Given the description of an element on the screen output the (x, y) to click on. 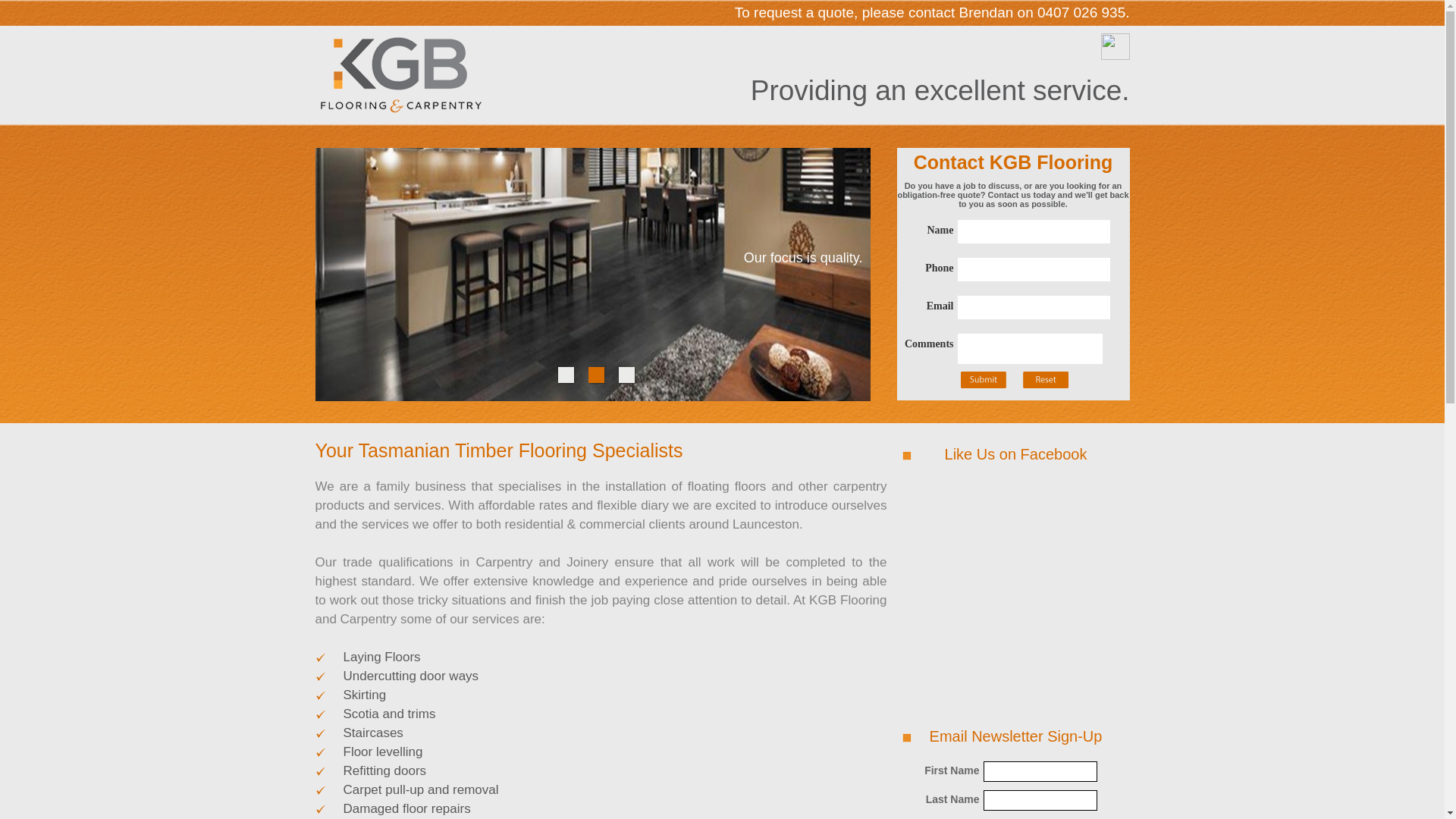
2 Element type: text (596, 375)
3 Element type: text (627, 375)
1 Element type: text (566, 375)
